Given the description of an element on the screen output the (x, y) to click on. 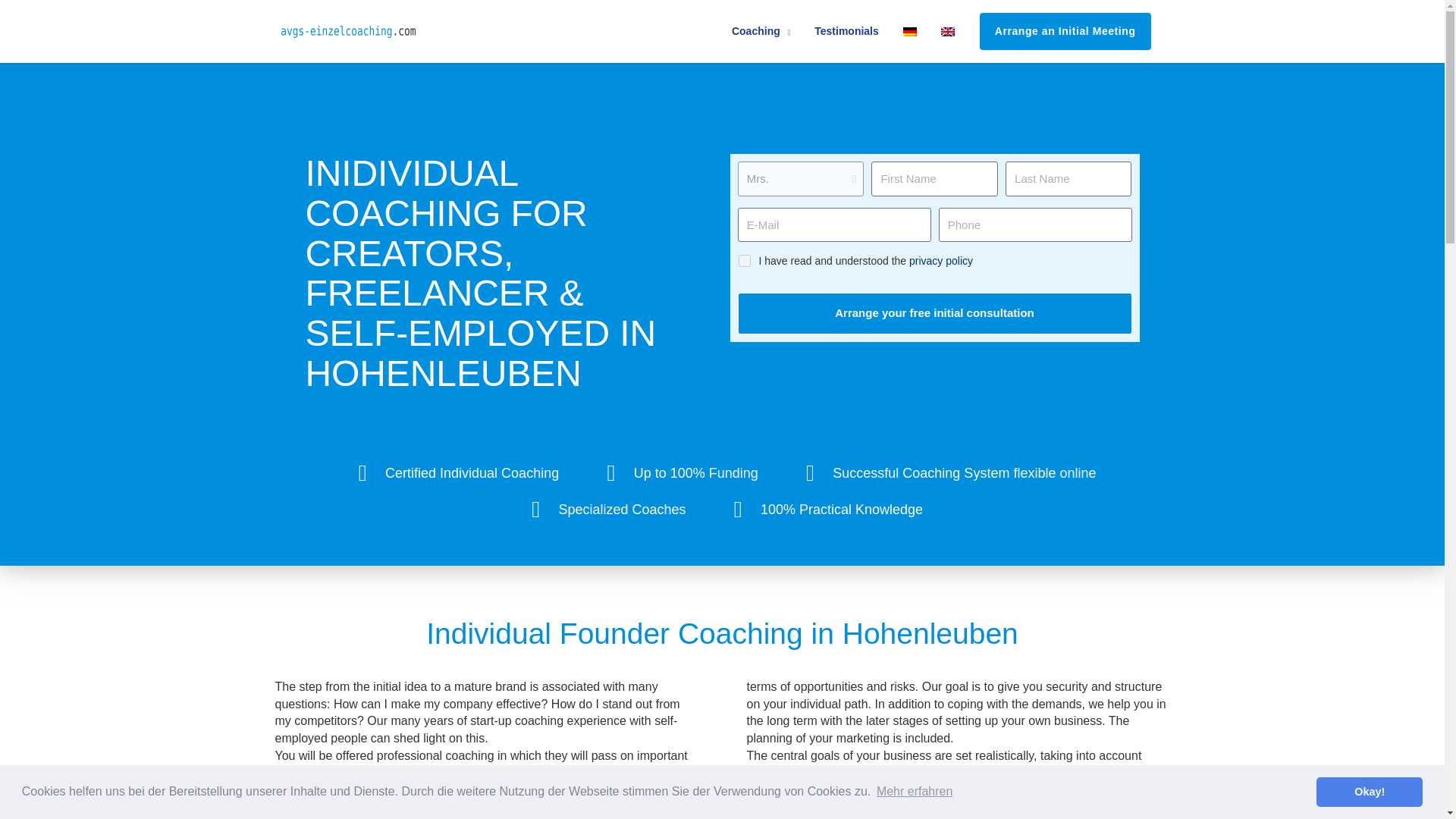
Testimonials (846, 31)
AVGS-Coaching Hohenleuben (563, 807)
Please accept our privacy terms. (743, 260)
Coaching (760, 31)
Please filled out this field. (1069, 178)
Please filled out this field. (933, 178)
Please enter a valid email address. (833, 225)
Arrange an Initial Meeting (1064, 31)
on (743, 260)
Mehr erfahren (915, 791)
Okay! (1369, 791)
Arrange your free initial consultation (933, 313)
privacy policy (940, 260)
Please select an item in the list. (799, 178)
